Given the description of an element on the screen output the (x, y) to click on. 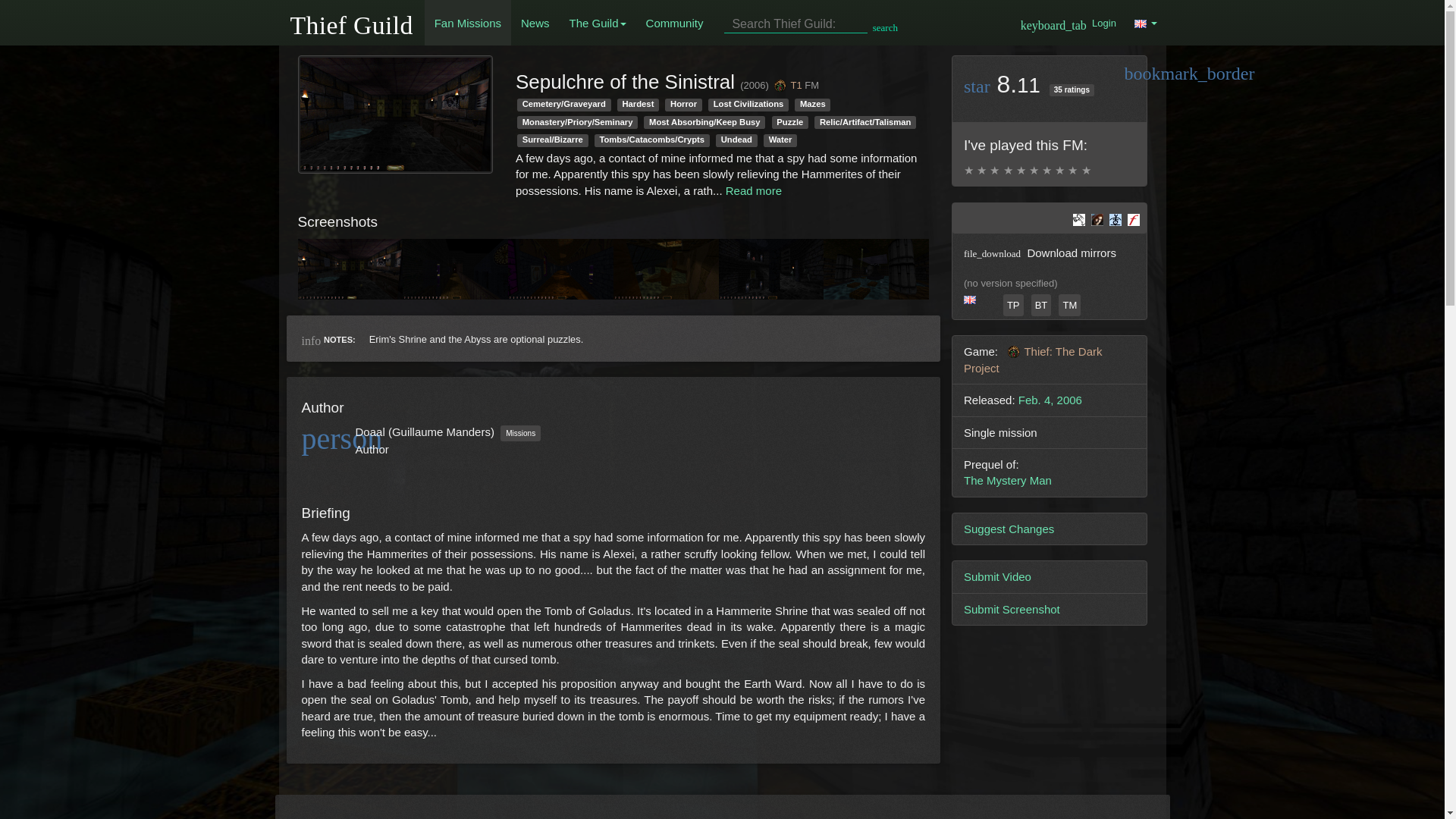
Fan Mission (811, 84)
en (976, 299)
Community (674, 22)
Thief Guild (352, 21)
Taffers Paradise (1013, 305)
T1 (789, 84)
News (535, 22)
Puzzle (790, 122)
Lost Civilizations (748, 104)
Horror (683, 104)
